Given the description of an element on the screen output the (x, y) to click on. 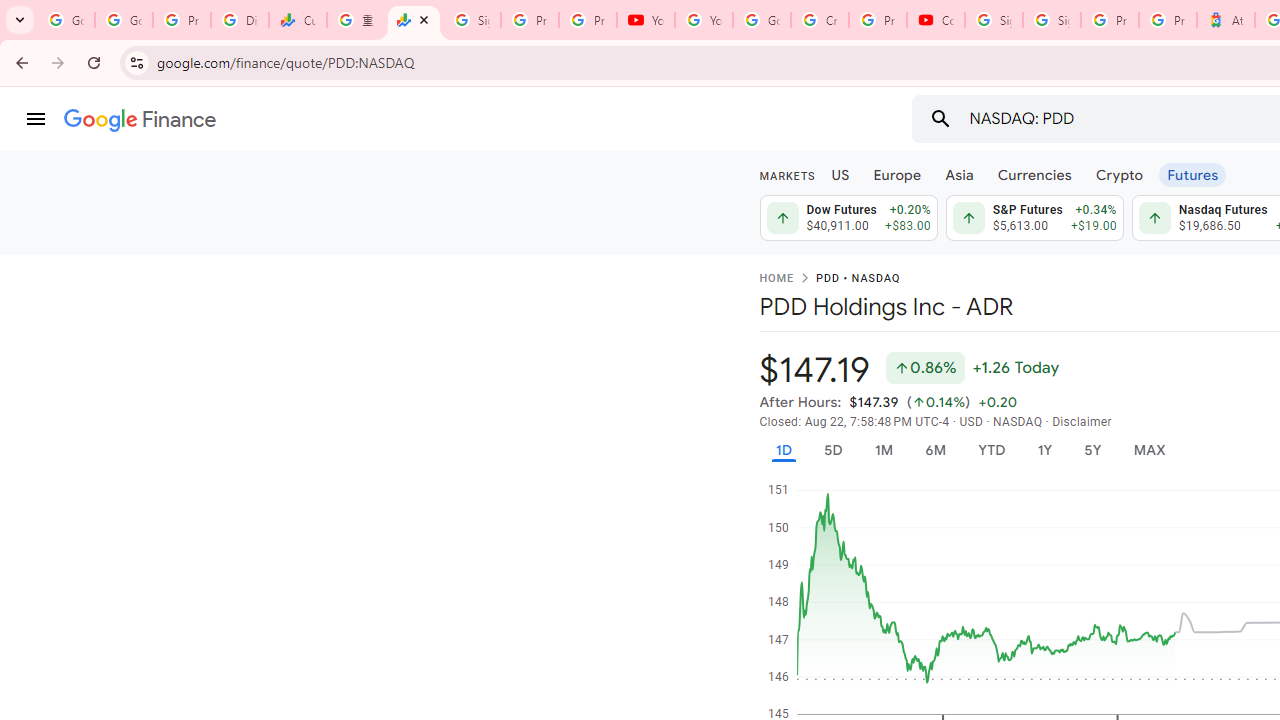
Google Account Help (762, 20)
Finance (140, 120)
MAX (1149, 449)
Sign in - Google Accounts (471, 20)
Sign in - Google Accounts (993, 20)
System (10, 11)
Forward (57, 62)
YouTube (645, 20)
Asia (958, 174)
5Y (1092, 449)
Crypto (1119, 174)
Main menu (35, 119)
Reload (93, 62)
